Given the description of an element on the screen output the (x, y) to click on. 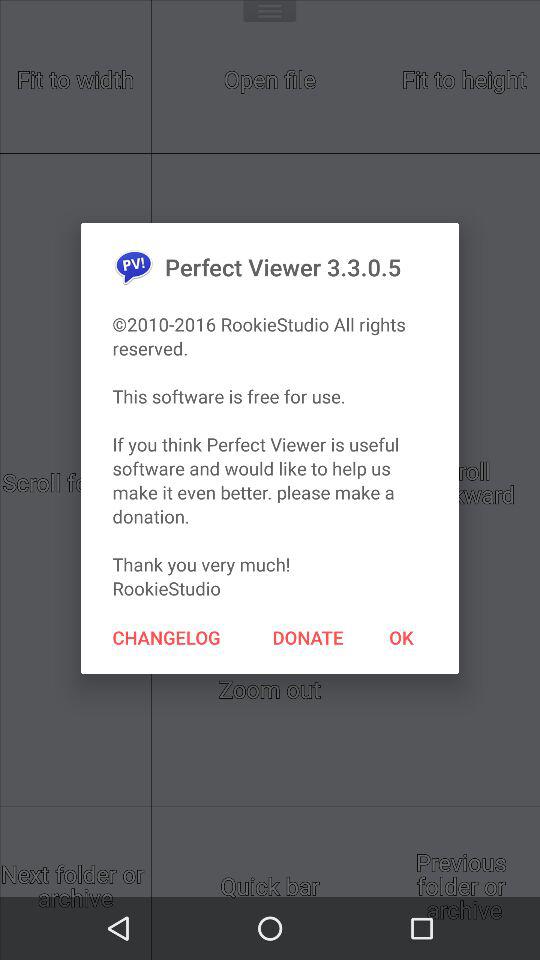
choose the icon next to donate icon (401, 637)
